Given the description of an element on the screen output the (x, y) to click on. 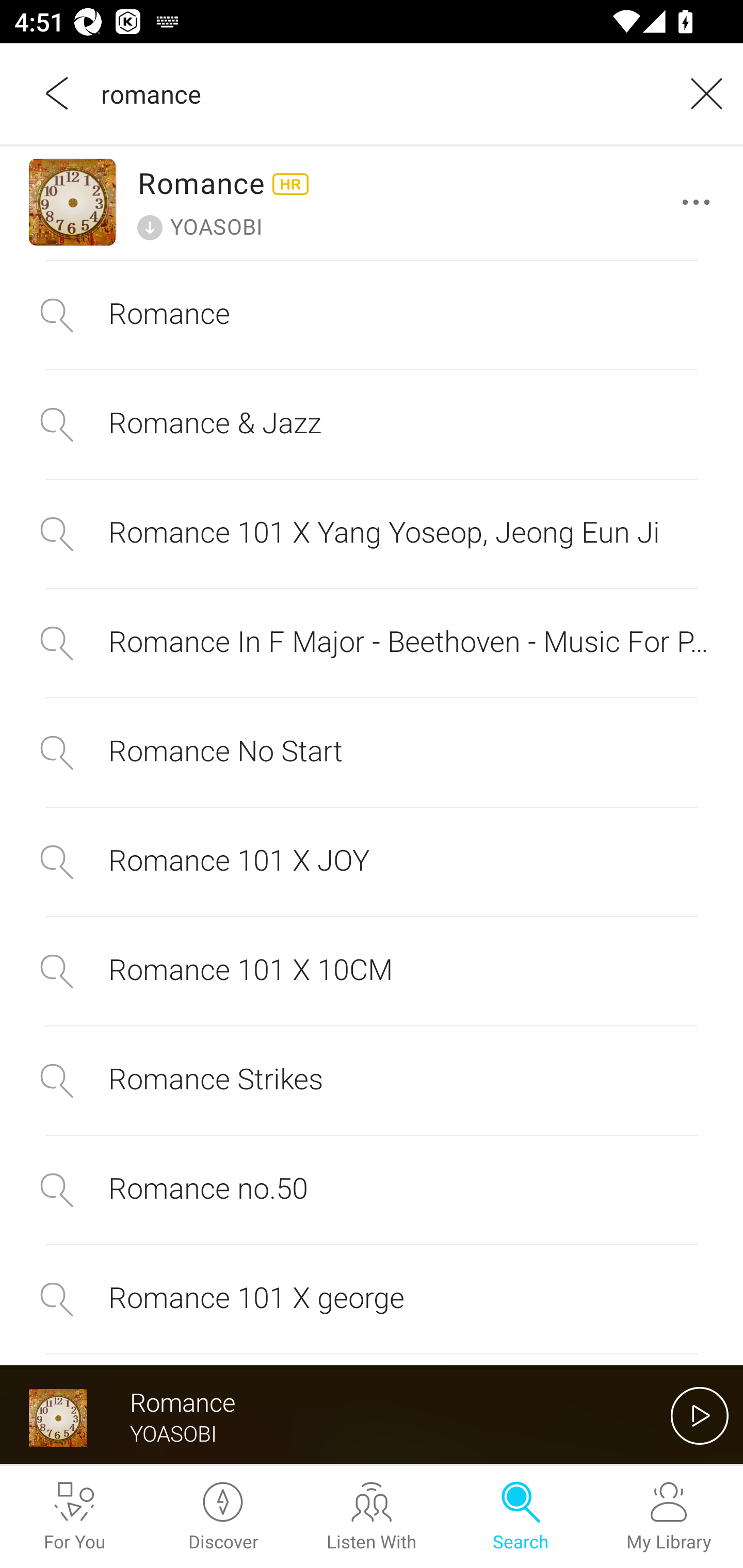
romance (378, 92)
Clear query (699, 92)
Back,outside of the list (57, 93)
Search preview item Romance 已下載 YOASOBI 更多操作選項 (371, 202)
更多操作選項 (699, 202)
Romance (371, 315)
Romance & Jazz (371, 424)
Romance 101 X Yang Yoseop, Jeong Eun Ji (371, 533)
Romance In F Major - Beethoven - Music For Pets (371, 643)
Romance No Start (371, 751)
Romance 101 X JOY (371, 861)
Romance 101 X 10CM (371, 971)
Romance Strikes (371, 1081)
Romance no.50 (371, 1189)
Romance 101 X george (371, 1298)
開始播放 (699, 1415)
For You (74, 1517)
Discover (222, 1517)
Listen With (371, 1517)
Search (519, 1517)
My Library (668, 1517)
